Given the description of an element on the screen output the (x, y) to click on. 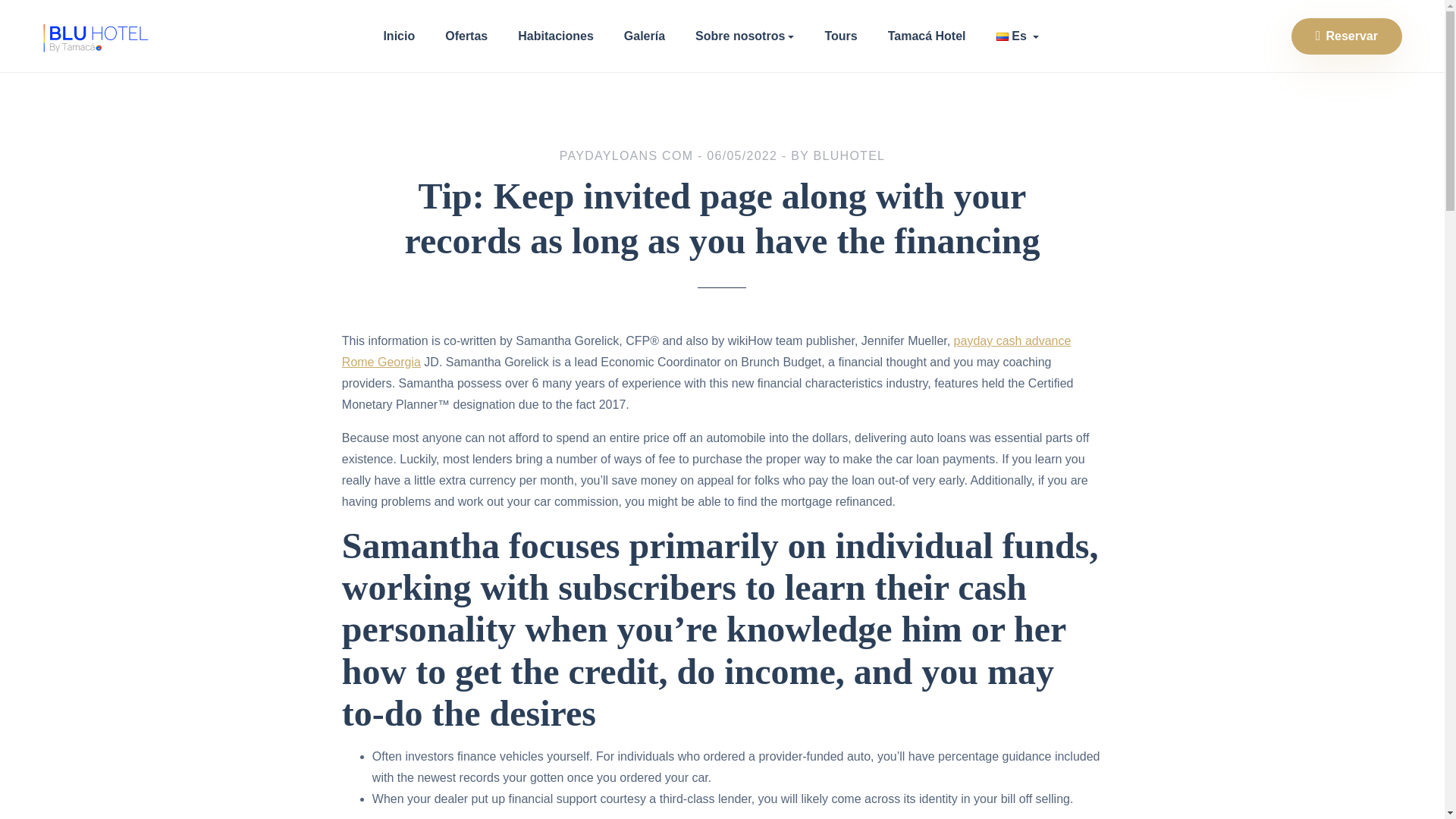
payday cash advance Rome Georgia (706, 351)
Es (1017, 36)
PAYDAYLOANS COM (626, 155)
Sobre nosotros (744, 36)
Inicio (398, 36)
Reservar (1346, 36)
Tours (840, 36)
Habitaciones (556, 36)
Ofertas (466, 36)
BLUHOTEL (849, 155)
